Given the description of an element on the screen output the (x, y) to click on. 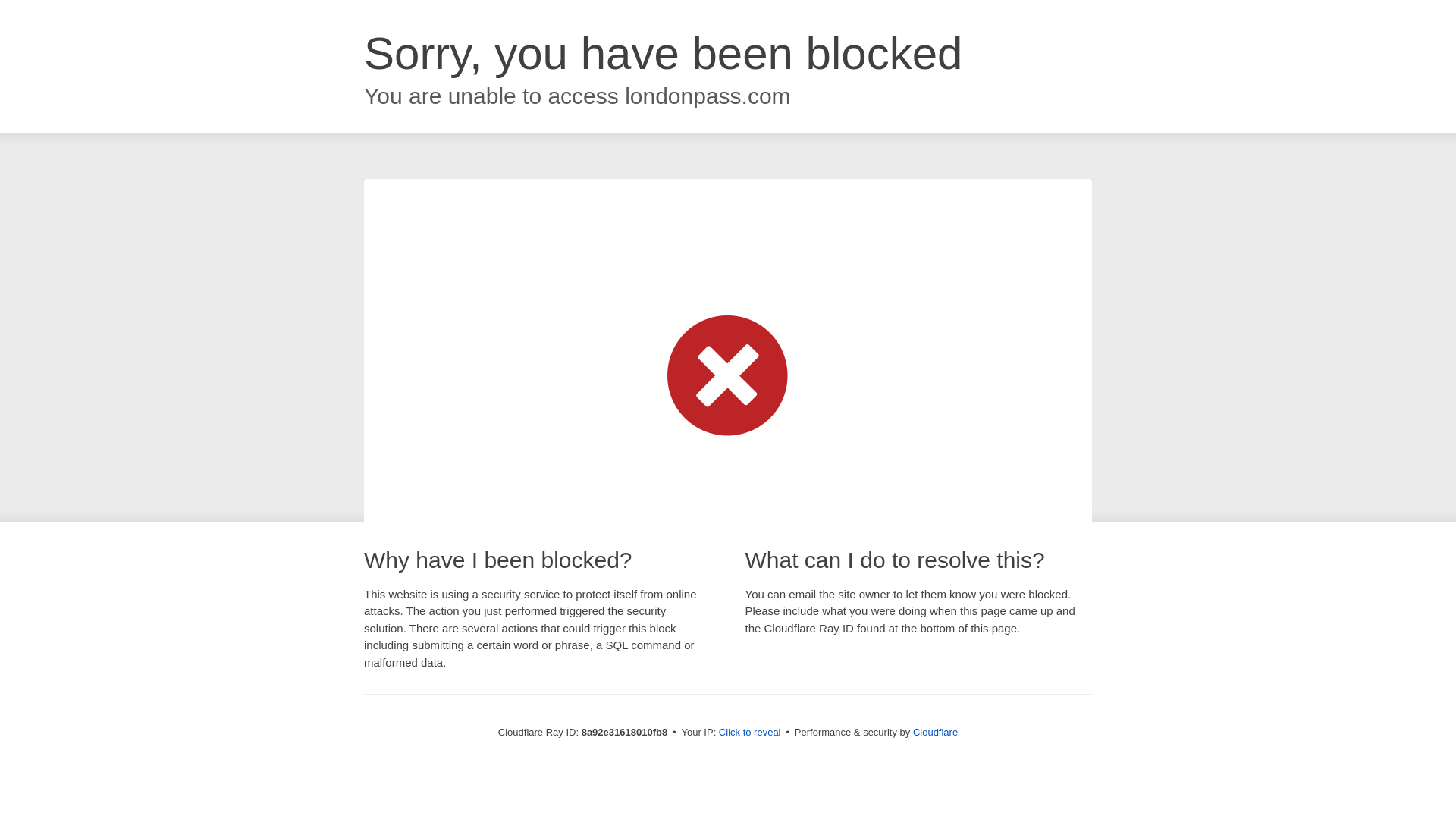
Cloudflare (935, 731)
Click to reveal (749, 732)
